Given the description of an element on the screen output the (x, y) to click on. 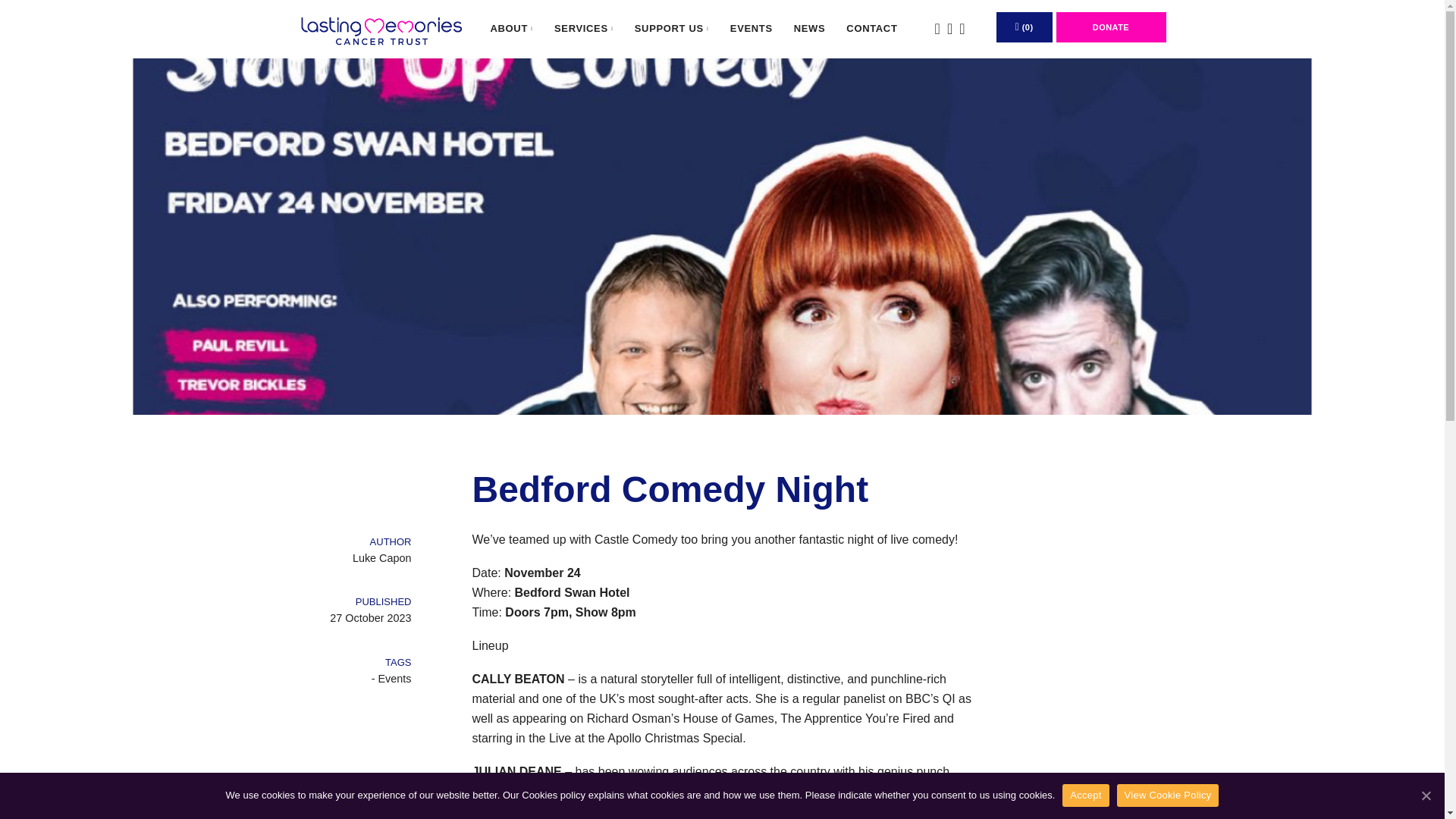
ABOUT (512, 28)
DONATE (1110, 27)
CONTACT (871, 28)
NEWS (809, 28)
EVENTS (751, 28)
- Events (391, 678)
SUPPORT US (671, 28)
Luke Capon (353, 558)
Luke Capon (353, 558)
SERVICES (583, 28)
